Given the description of an element on the screen output the (x, y) to click on. 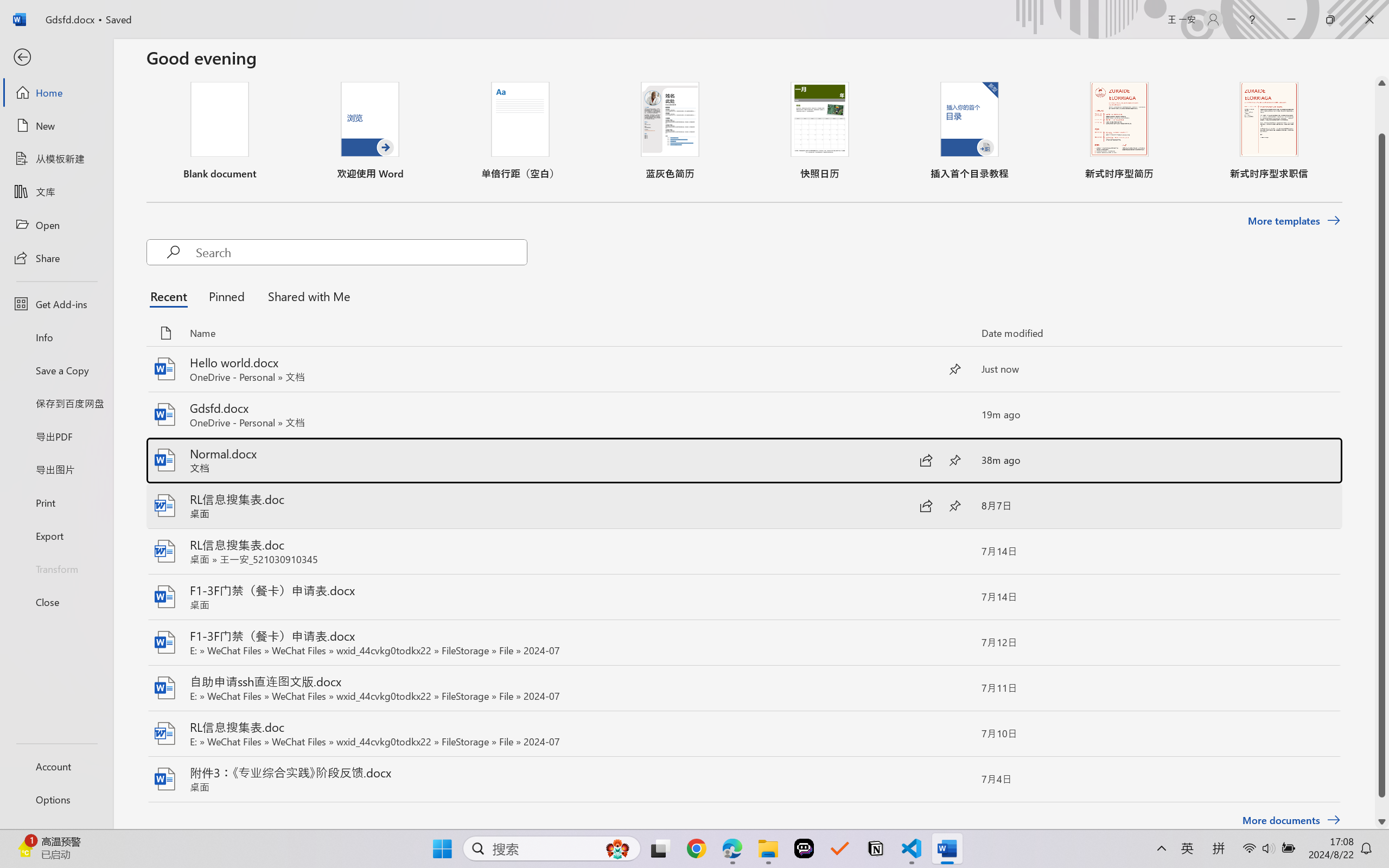
Transform (56, 568)
Recent (171, 295)
Page down (1382, 806)
Search (360, 251)
Unpin this item from the list (954, 368)
Hello world.docx (743, 369)
Export (56, 535)
